Given the description of an element on the screen output the (x, y) to click on. 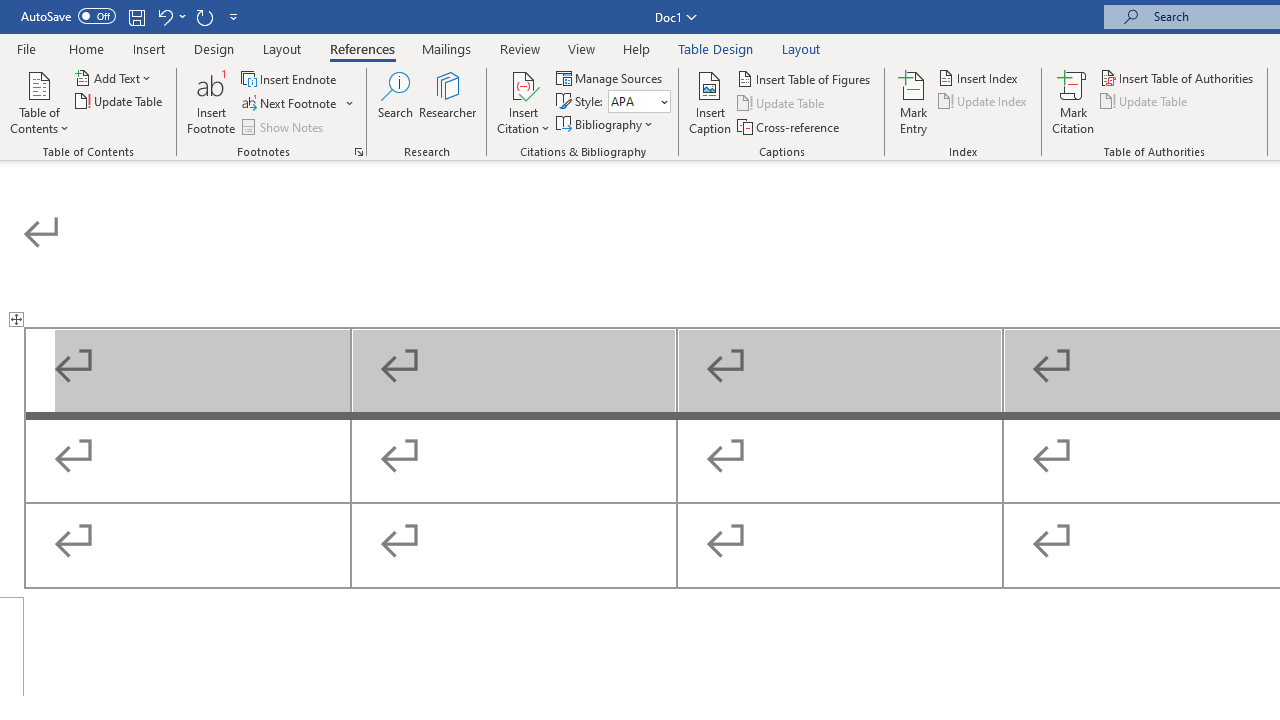
Insert Endnote (290, 78)
Style (639, 101)
Add Text (114, 78)
Update Table... (119, 101)
Researcher (447, 102)
Mark Citation... (1072, 102)
Insert Table of Authorities... (1177, 78)
Show Notes (284, 126)
Insert Index... (979, 78)
